Given the description of an element on the screen output the (x, y) to click on. 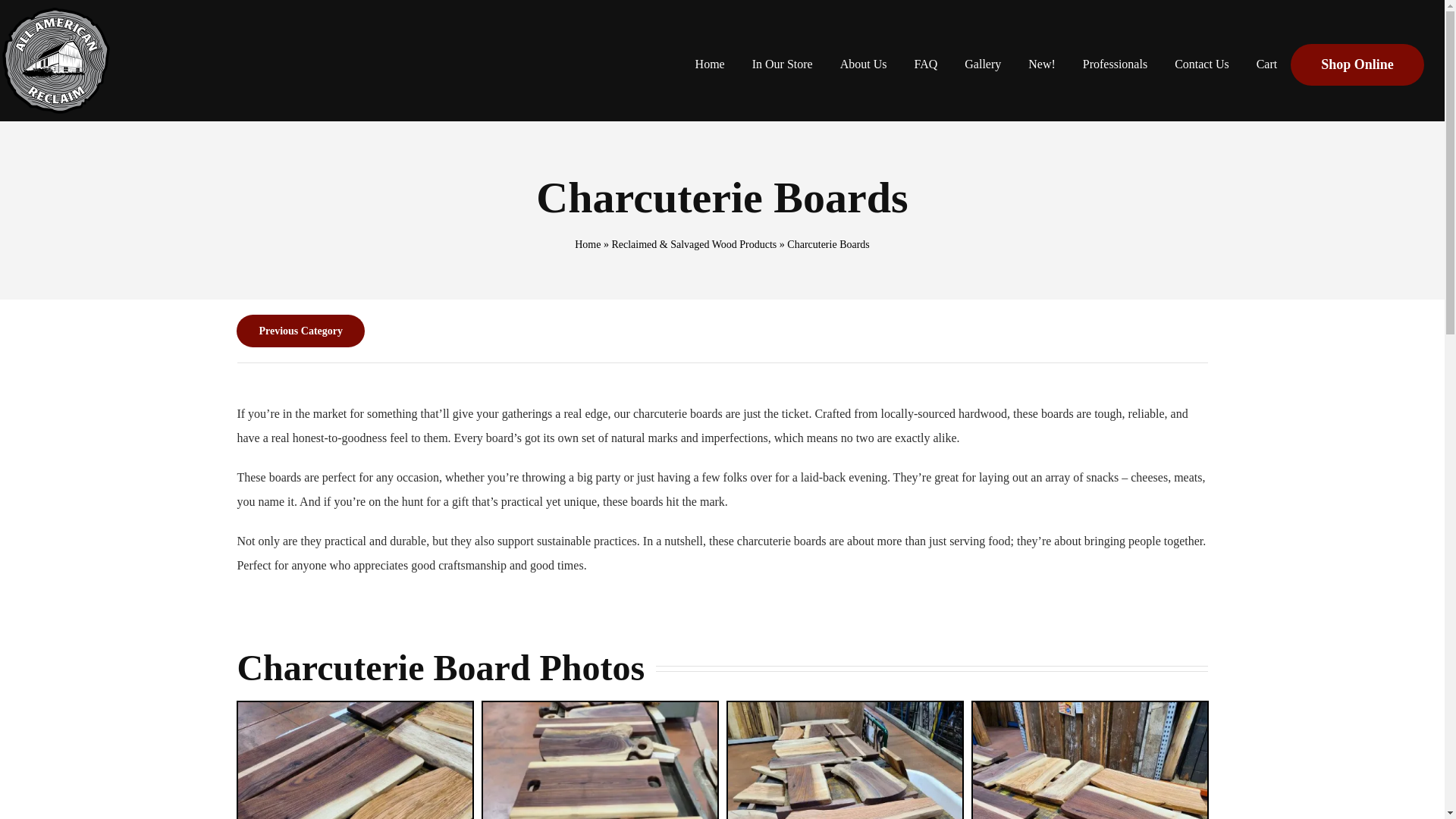
FAQ (924, 63)
Professionals (1114, 63)
Shop Online (1356, 63)
Home (709, 63)
Contact Us (1201, 63)
Charcuterie Boards (354, 760)
New! (1041, 63)
About Us (864, 63)
Gallery (982, 63)
Charcuterie Board Styles (600, 760)
In Our Store (782, 63)
Previous Category (721, 331)
